Given the description of an element on the screen output the (x, y) to click on. 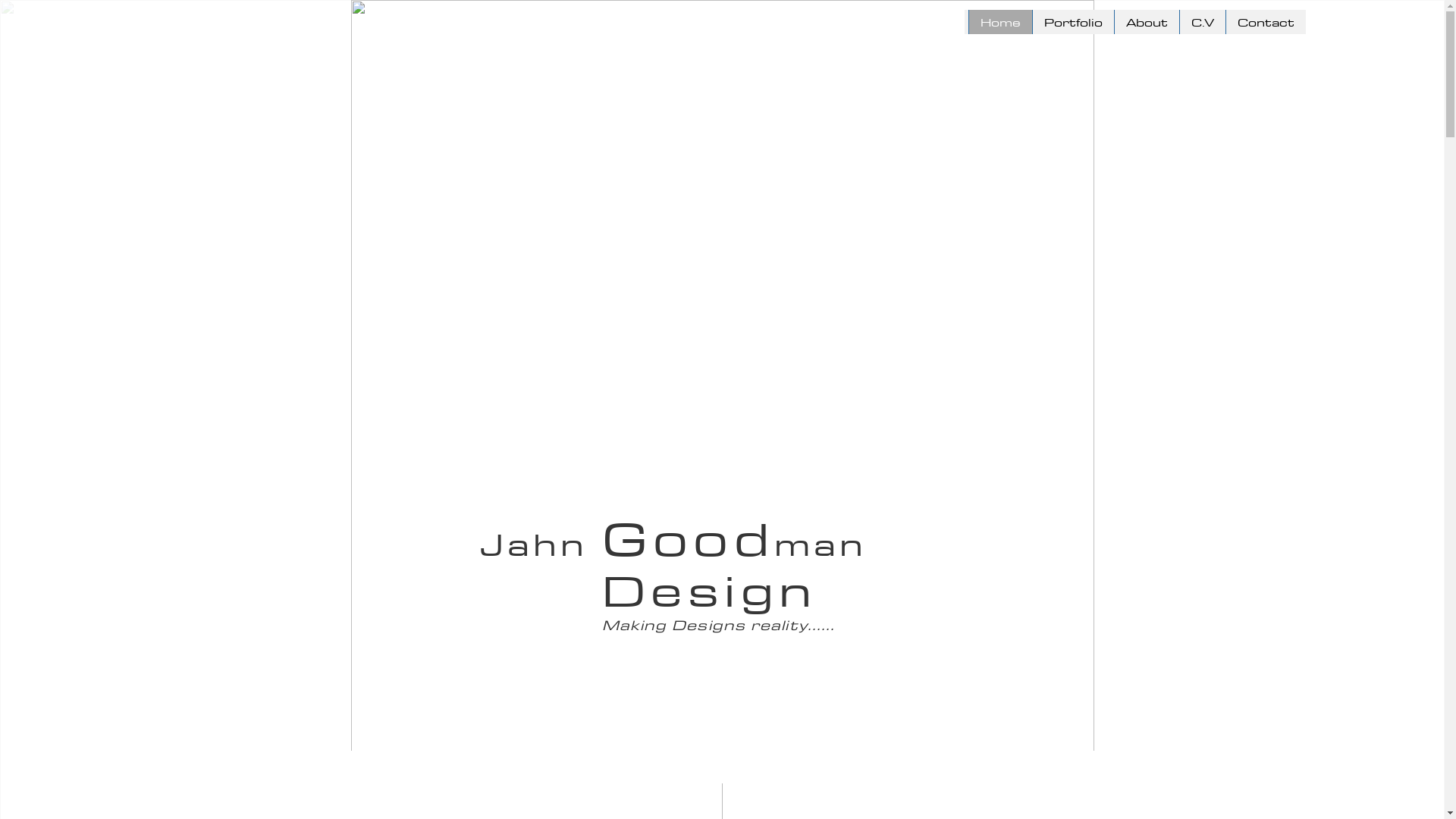
About Element type: text (1145, 21)
Home Element type: text (999, 21)
Contact Element type: text (1265, 21)
Portfolio Element type: text (1072, 21)
C.V Element type: text (1201, 21)
